Given the description of an element on the screen output the (x, y) to click on. 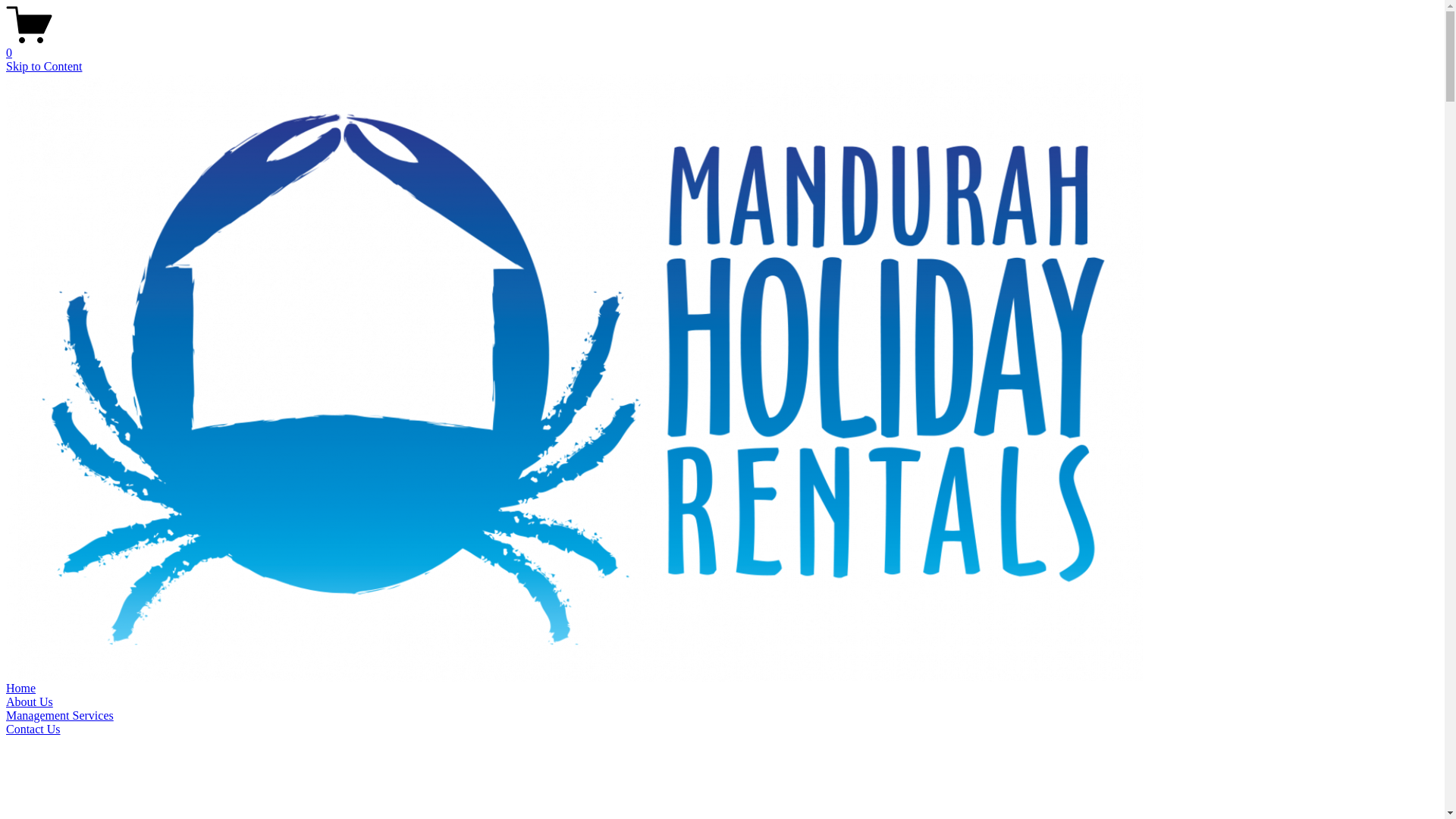
About Us Element type: text (29, 701)
0 Element type: text (722, 45)
Management Services Element type: text (59, 715)
Home Element type: text (20, 687)
Skip to Content Element type: text (43, 65)
Contact Us Element type: text (33, 728)
